Given the description of an element on the screen output the (x, y) to click on. 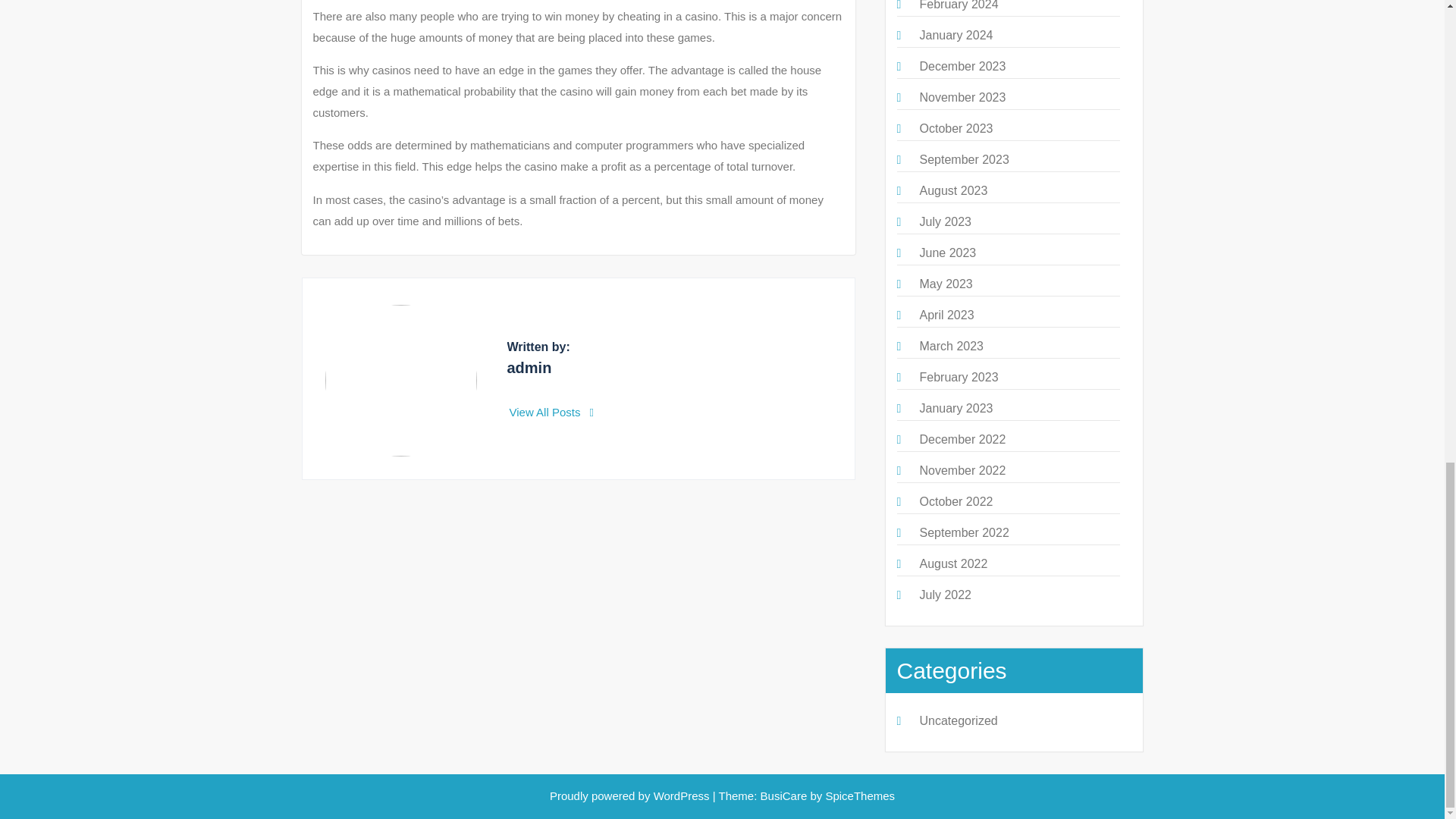
November 2023 (962, 97)
May 2023 (945, 283)
Uncategorized (957, 720)
September 2022 (963, 532)
January 2024 (955, 34)
October 2023 (955, 128)
October 2022 (955, 501)
June 2023 (946, 252)
January 2023 (955, 408)
February 2023 (957, 377)
December 2023 (962, 65)
August 2022 (952, 563)
April 2023 (946, 314)
December 2022 (962, 439)
November 2022 (962, 470)
